Given the description of an element on the screen output the (x, y) to click on. 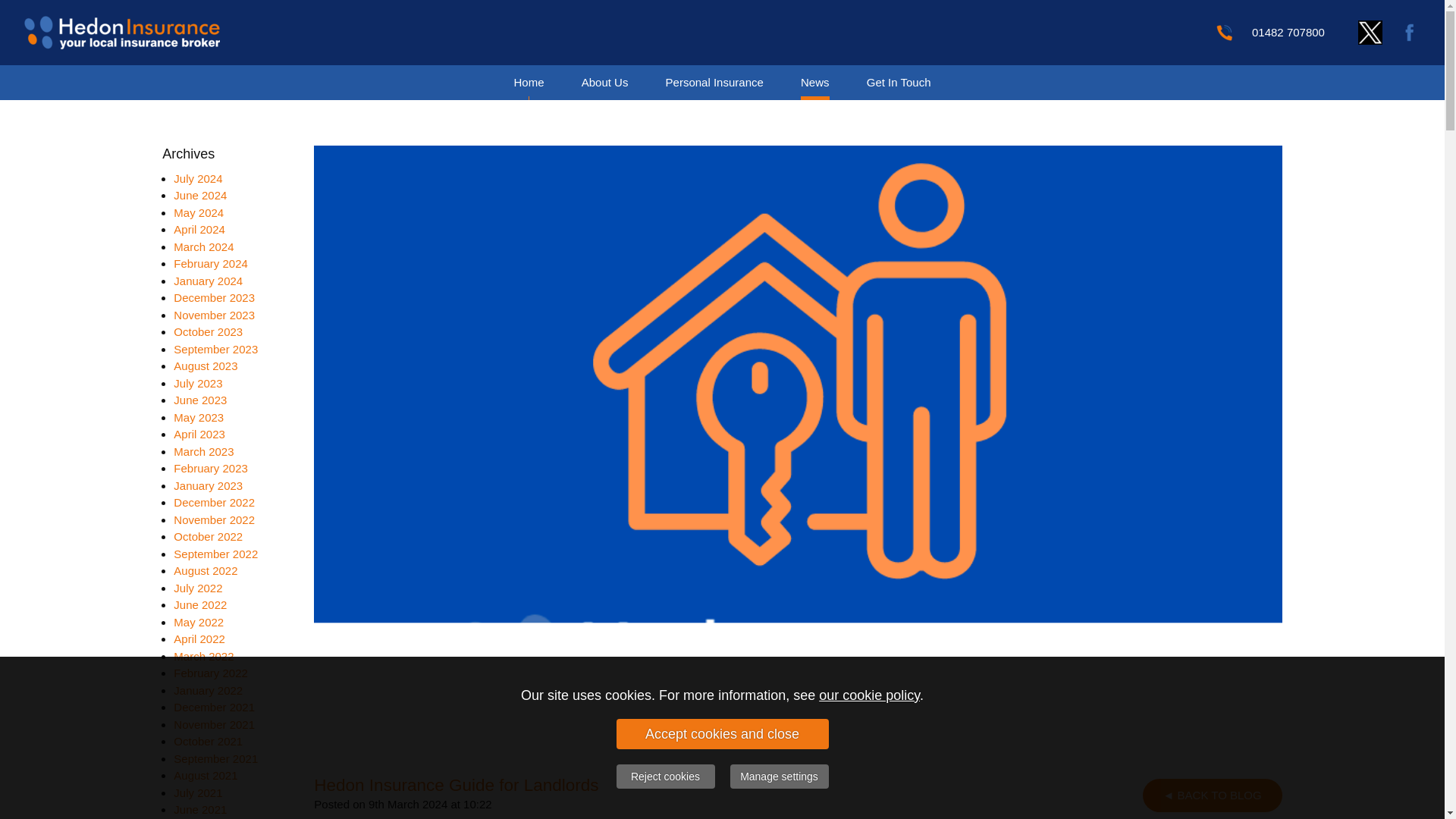
March 2023 (202, 450)
Home (528, 82)
About Us (605, 82)
Get In Touch (899, 82)
February 2024 (210, 263)
December 2023 (213, 297)
BACK TO BLOG (1212, 794)
Personal Insurance (713, 82)
June 2023 (200, 399)
July 2023 (197, 382)
